Given the description of an element on the screen output the (x, y) to click on. 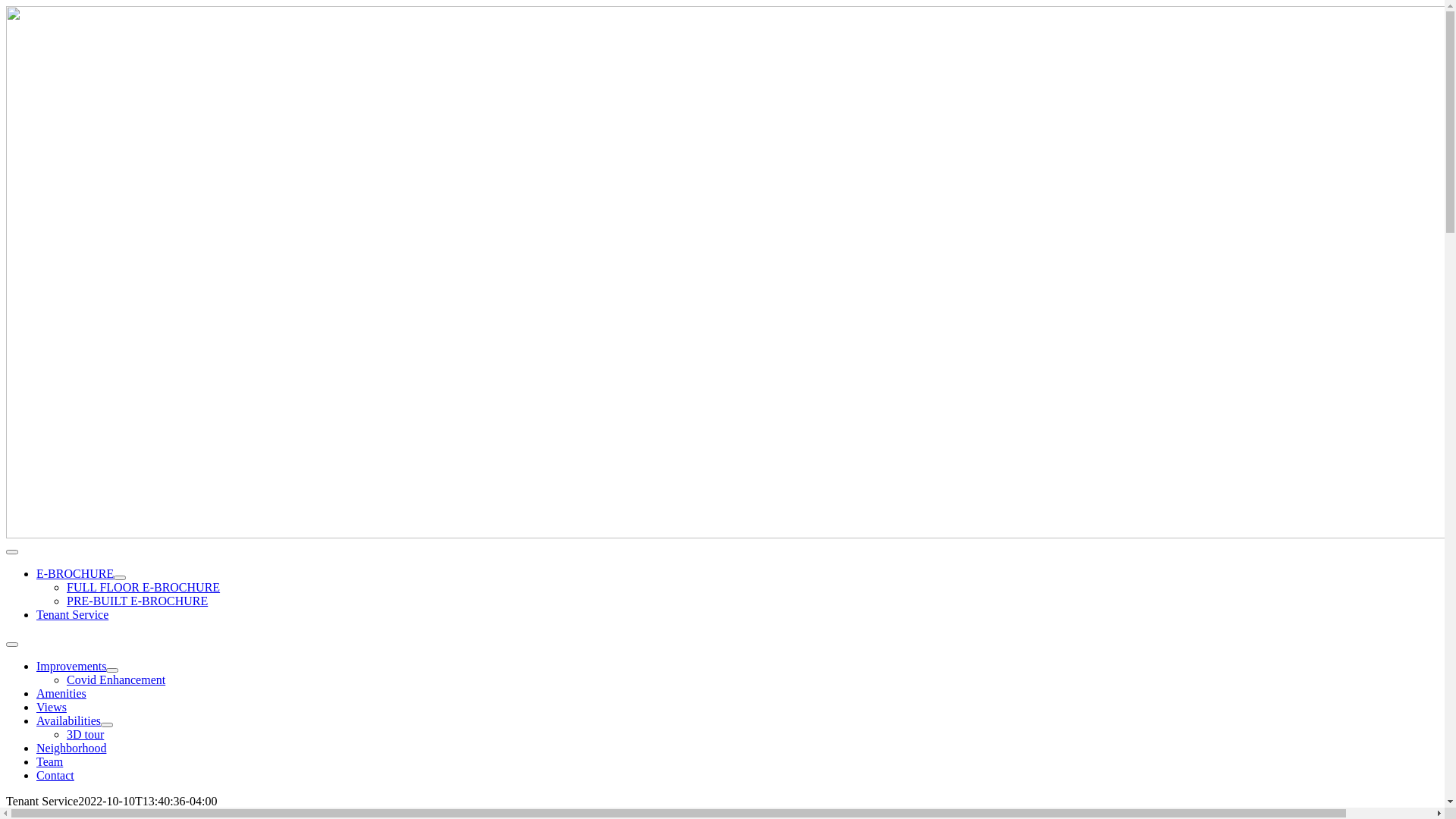
3D tour Element type: text (84, 734)
Availabilities Element type: text (68, 720)
PRE-BUILT E-BROCHURE Element type: text (136, 600)
Views Element type: text (51, 706)
Tenant Service Element type: text (72, 614)
FULL FLOOR E-BROCHURE Element type: text (142, 586)
Toggle Navigation Element type: text (12, 644)
E-BROCHURE Element type: text (74, 573)
Skip to content Element type: text (6, 6)
Contact Element type: text (55, 774)
Improvements Element type: text (71, 665)
Amenities Element type: text (61, 693)
Toggle Navigation Element type: text (12, 551)
Neighborhood Element type: text (71, 747)
Covid Enhancement Element type: text (115, 679)
Team Element type: text (49, 761)
